Given the description of an element on the screen output the (x, y) to click on. 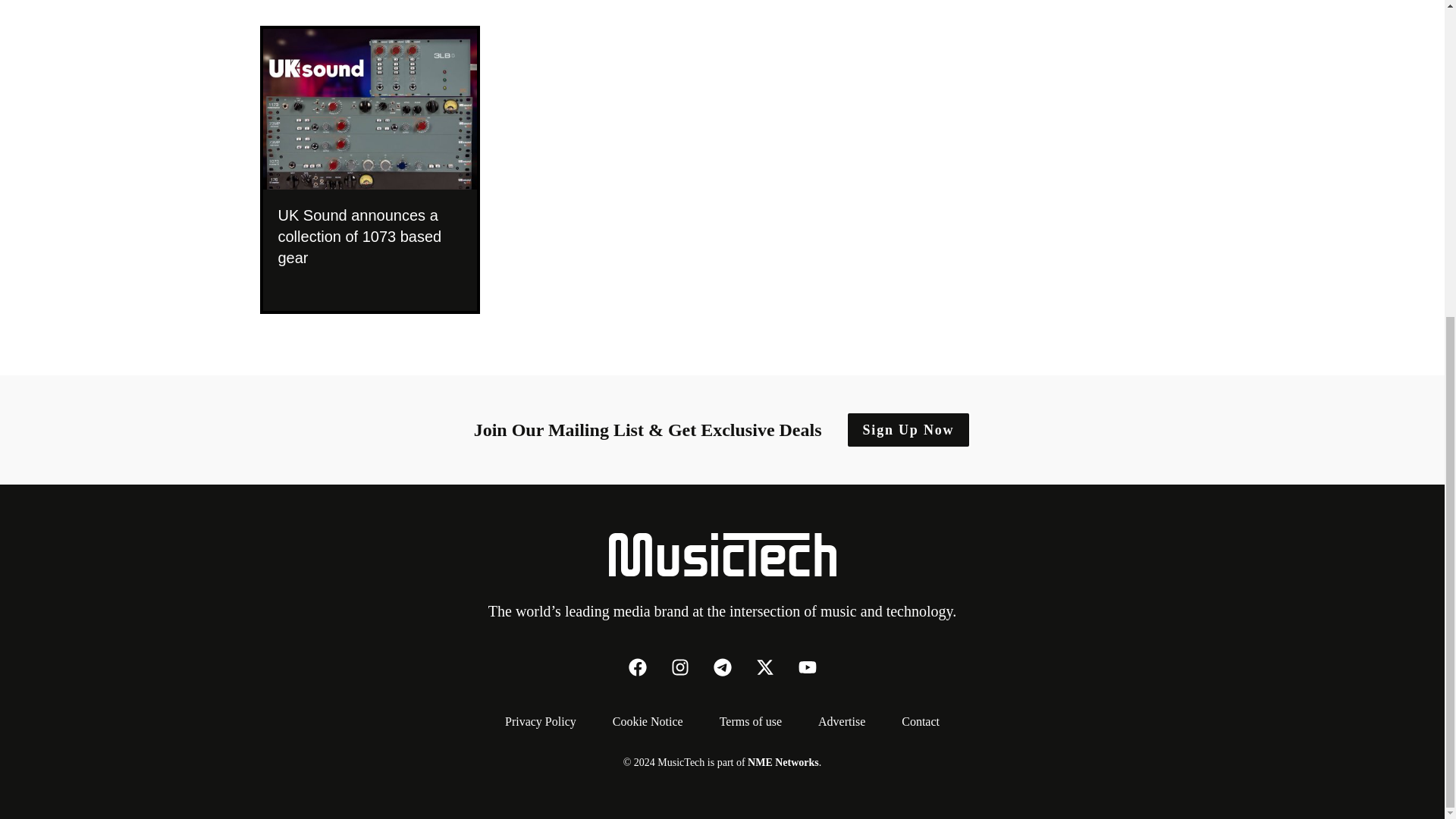
Privacy Policy (540, 721)
UK Sound announces a collection of 1073 based gear (369, 235)
Sign Up Now (908, 429)
Cookie Notice (647, 721)
Contact (920, 721)
NME Networks (783, 761)
Published October 7, 2019 3:45PM (369, 287)
Advertise (841, 721)
Terms of use (750, 721)
